Given the description of an element on the screen output the (x, y) to click on. 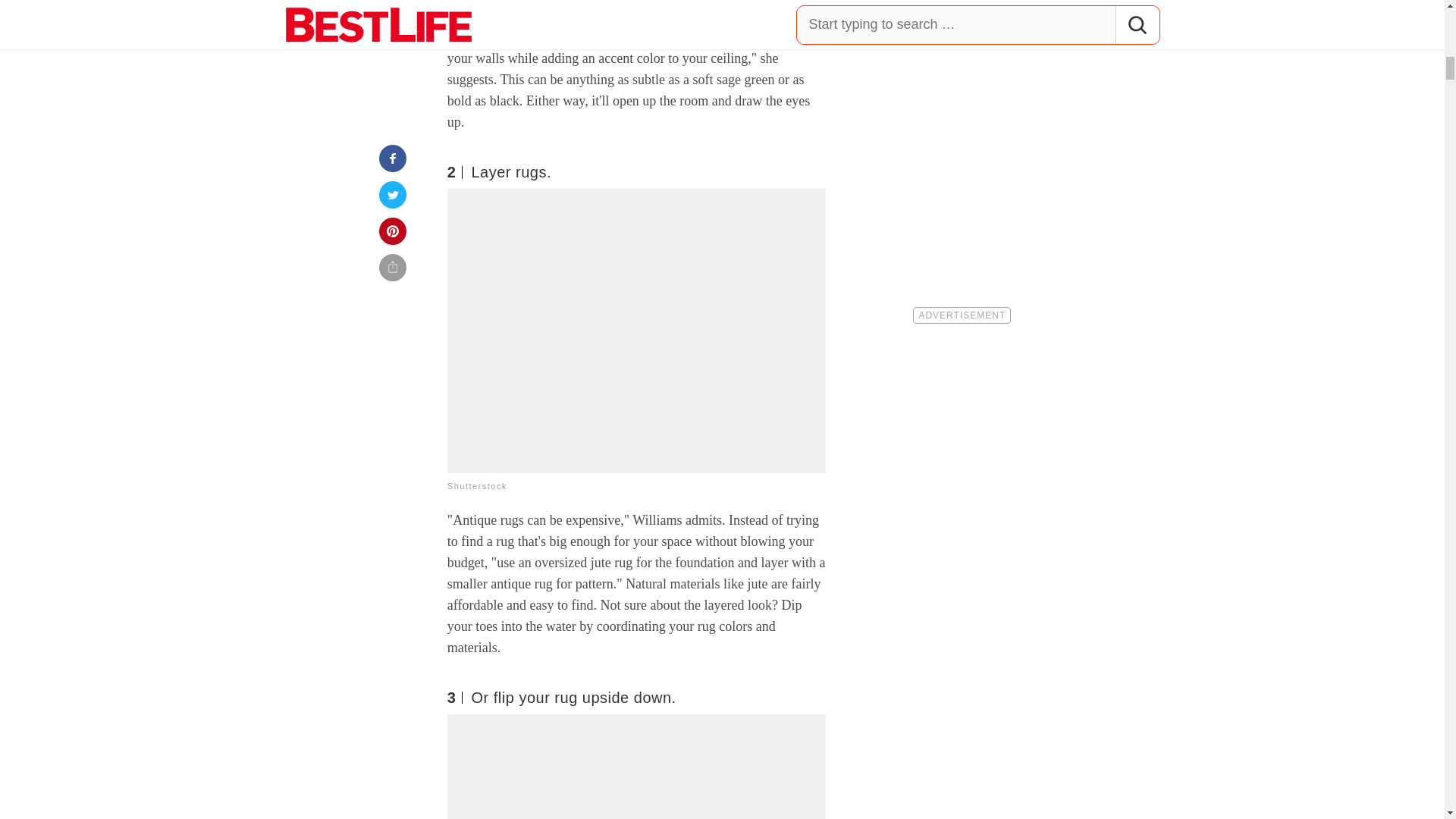
Hendley and Co. (492, 37)
Jessica Lynn Williams (557, 15)
